Given the description of an element on the screen output the (x, y) to click on. 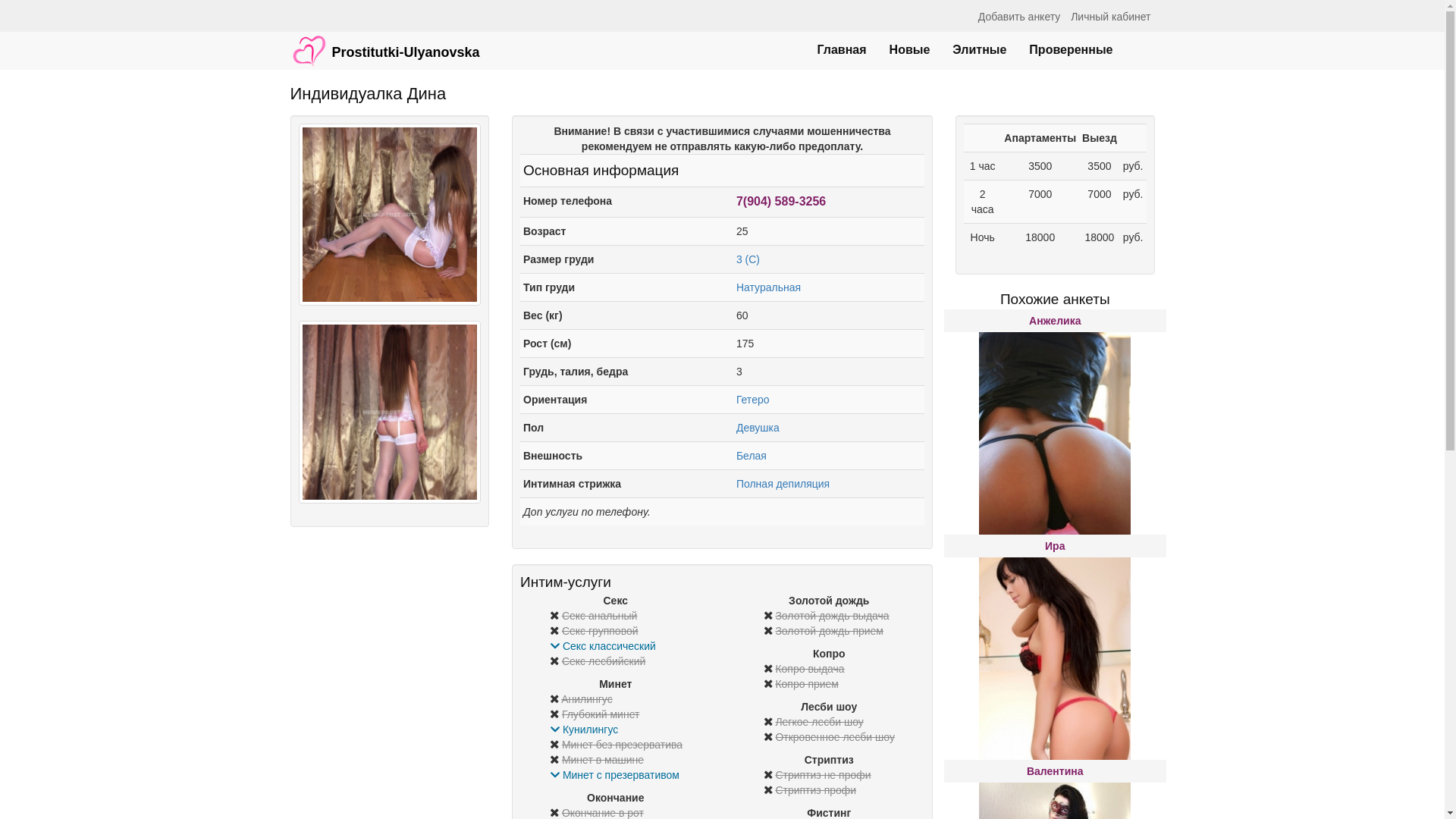
Prostitutki-Ulyanovska Element type: text (385, 43)
3 (C) Element type: text (747, 259)
